Given the description of an element on the screen output the (x, y) to click on. 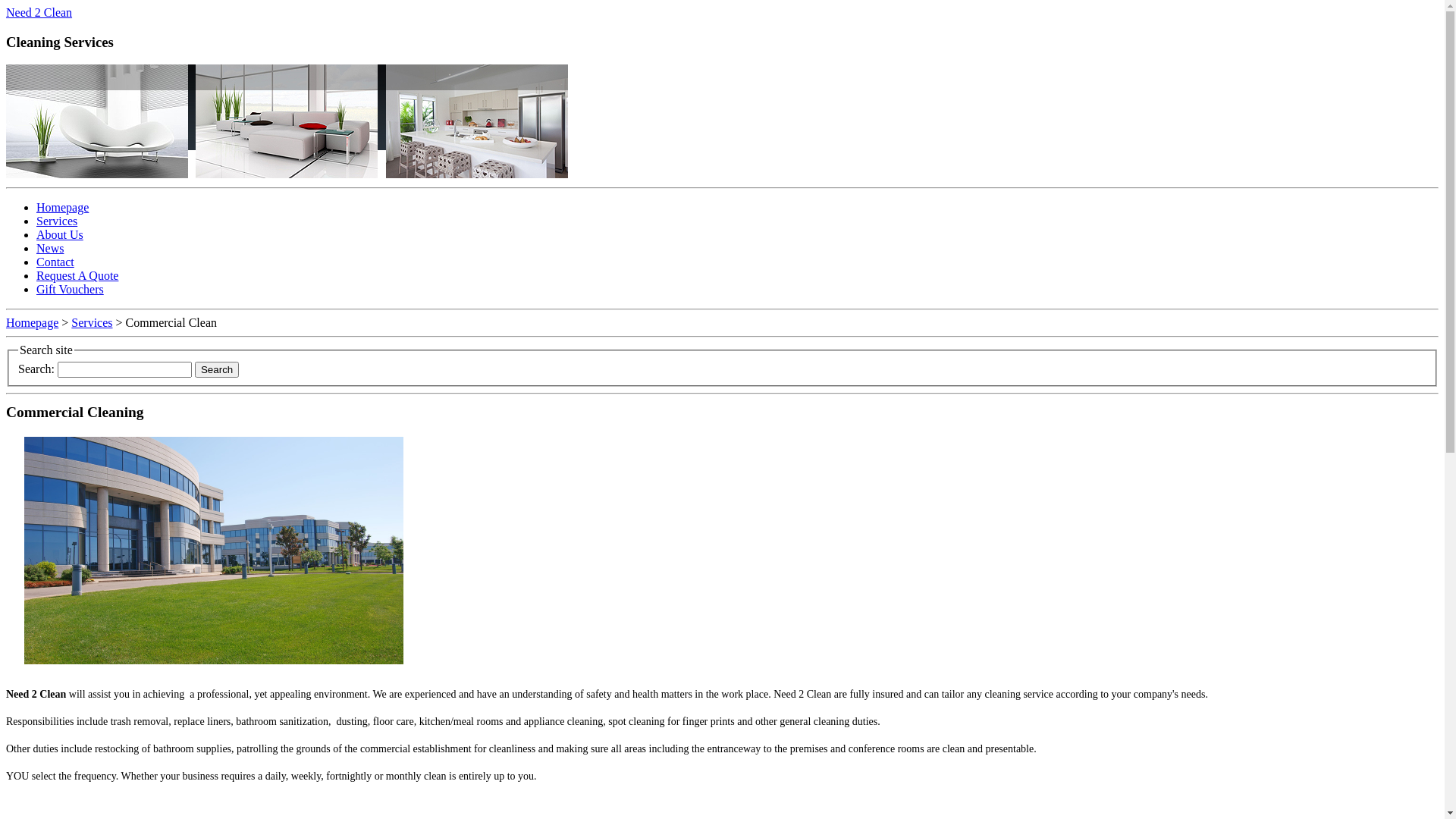
Need 2 Clean Element type: text (39, 12)
Homepage Element type: text (62, 206)
Services Element type: text (56, 220)
Gift Vouchers Element type: text (69, 288)
Request A Quote Element type: text (77, 275)
Contact Element type: text (55, 261)
Search Element type: text (216, 369)
Services Element type: text (91, 322)
News Element type: text (49, 247)
About Us Element type: text (59, 234)
Homepage Element type: text (32, 322)
